Given the description of an element on the screen output the (x, y) to click on. 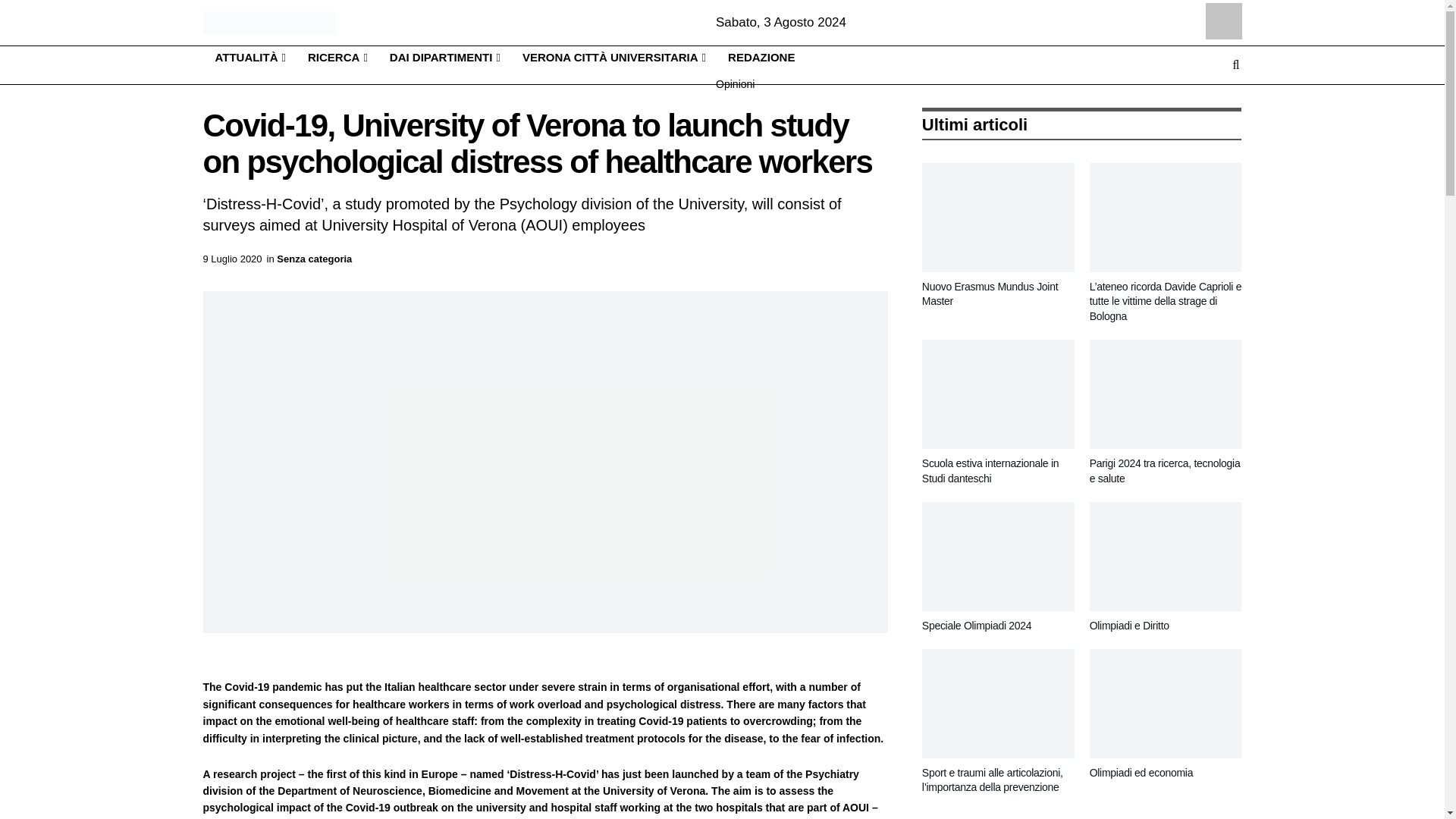
DAI DIPARTIMENTI (444, 57)
RICERCA (336, 57)
Opinioni (761, 83)
REDAZIONE (761, 57)
